Given the description of an element on the screen output the (x, y) to click on. 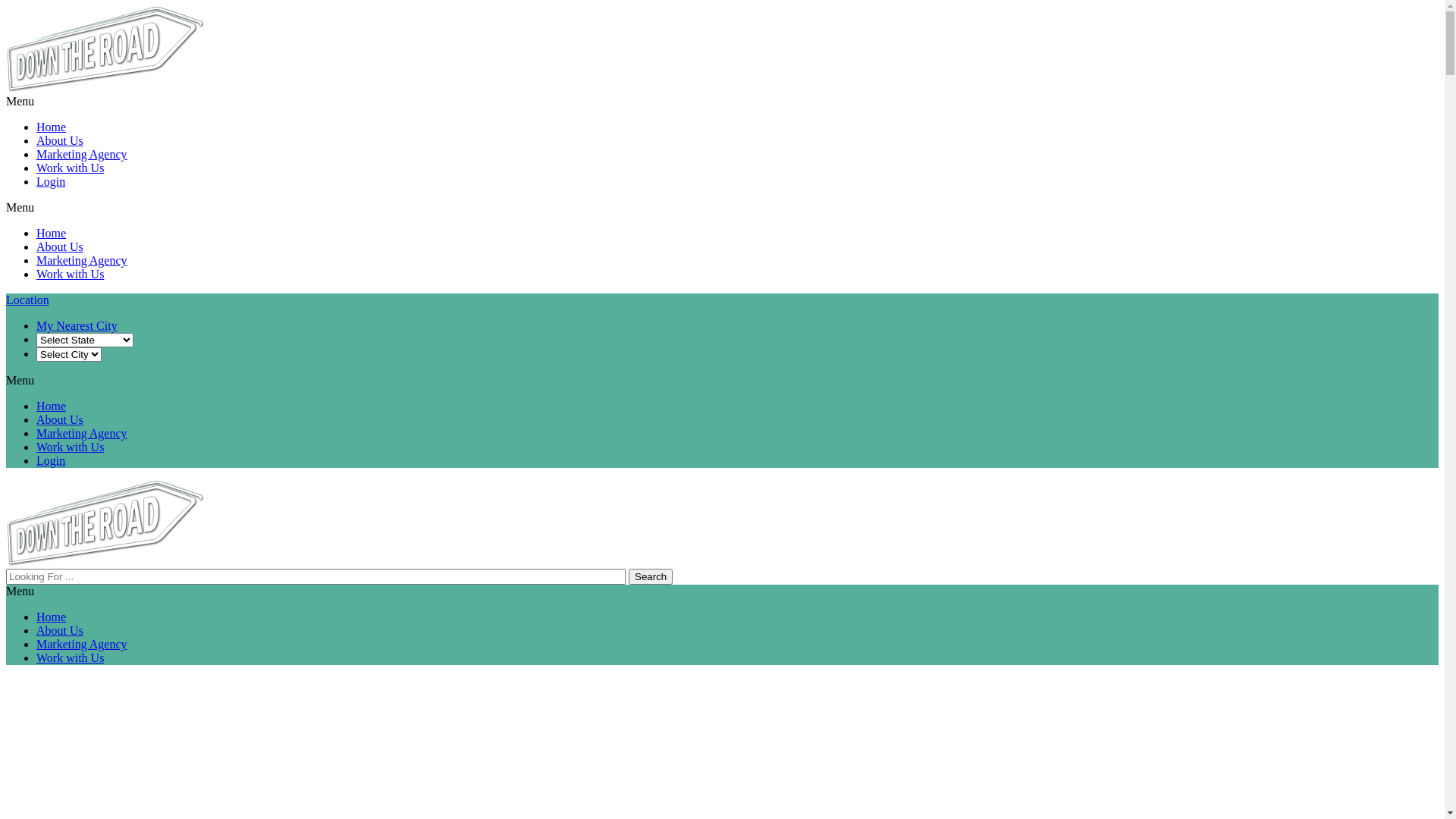
Home Element type: text (50, 232)
Login Element type: text (50, 460)
Marketing Agency Element type: text (81, 643)
Location Element type: text (27, 299)
About Us Element type: text (59, 630)
My Nearest City Element type: text (76, 325)
Marketing Agency Element type: text (81, 153)
Down the Road Element type: hover (104, 561)
Work with Us Element type: text (69, 657)
Search Element type: text (650, 576)
Work with Us Element type: text (69, 167)
Work with Us Element type: text (69, 446)
Home Element type: text (50, 616)
Login Element type: text (50, 181)
Home Element type: text (50, 405)
About Us Element type: text (59, 246)
Home Element type: text (50, 126)
About Us Element type: text (59, 419)
About Us Element type: text (59, 140)
Work with Us Element type: text (69, 273)
Down the Road Element type: hover (104, 87)
Marketing Agency Element type: text (81, 432)
Marketing Agency Element type: text (81, 260)
